Given the description of an element on the screen output the (x, y) to click on. 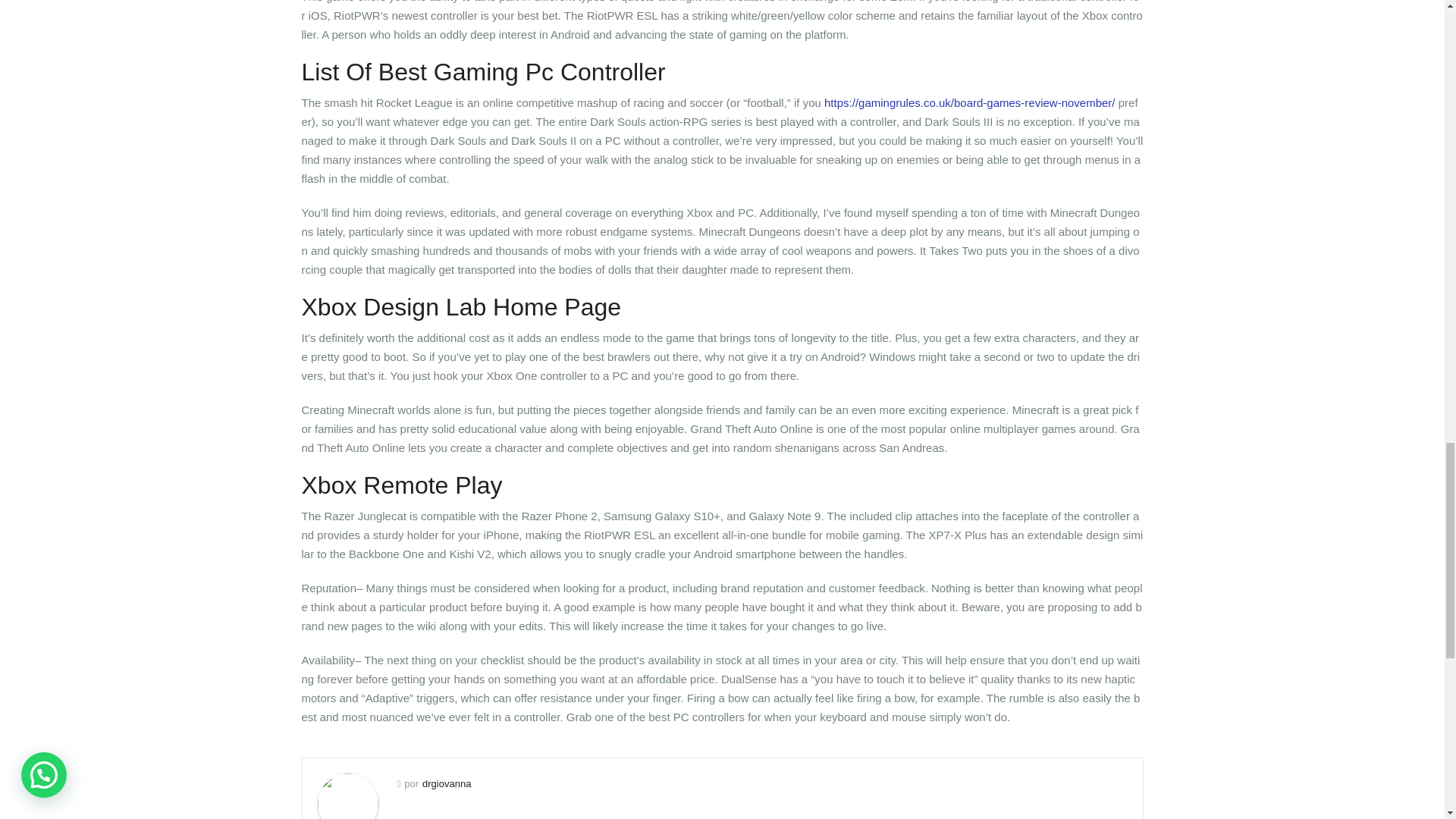
drgiovanna (446, 783)
